Given the description of an element on the screen output the (x, y) to click on. 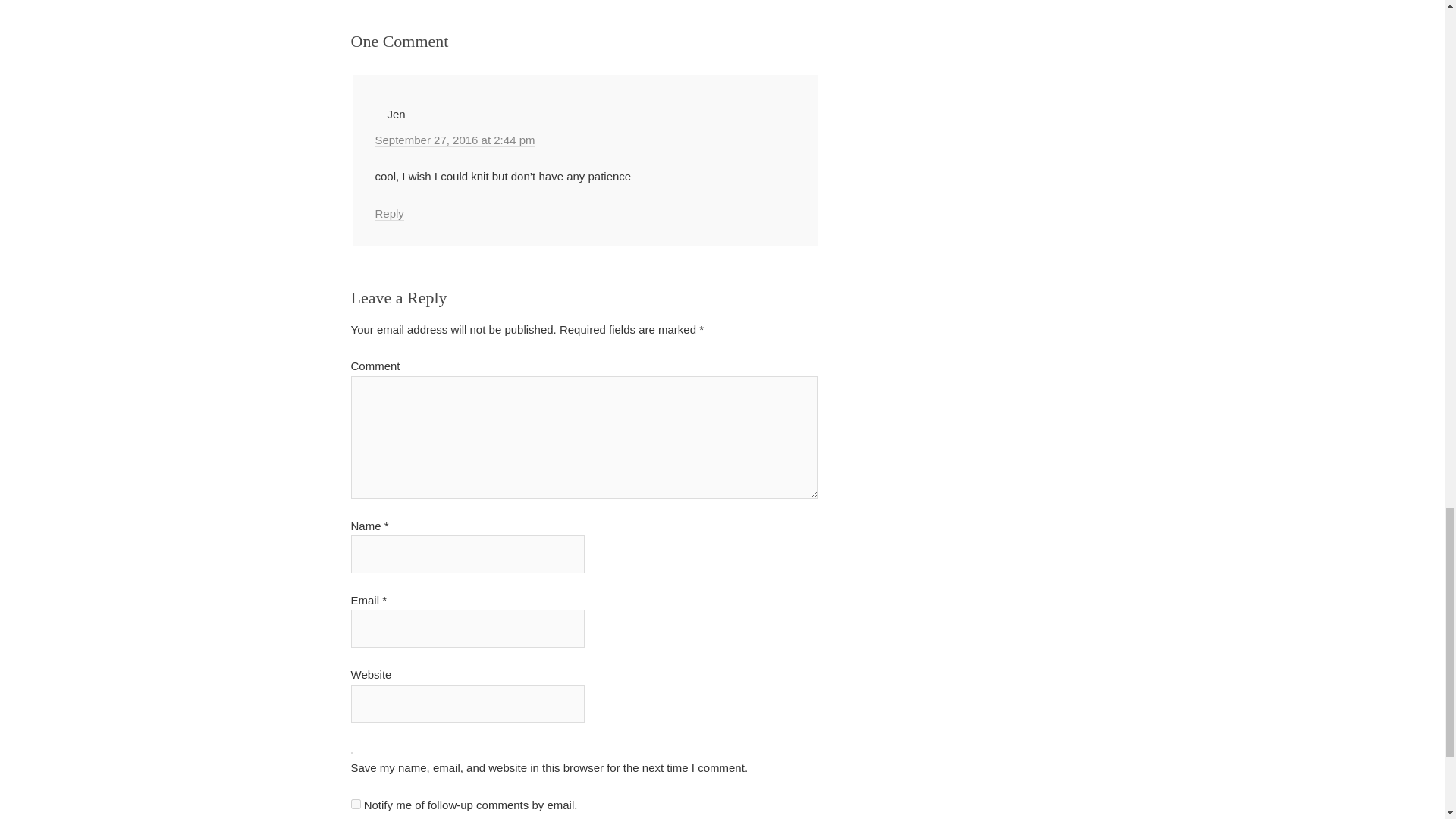
Tuesday, September 27, 2016, 2:44 pm (454, 140)
September 27, 2016 at 2:44 pm (454, 140)
subscribe (354, 804)
Reply (388, 213)
